Given the description of an element on the screen output the (x, y) to click on. 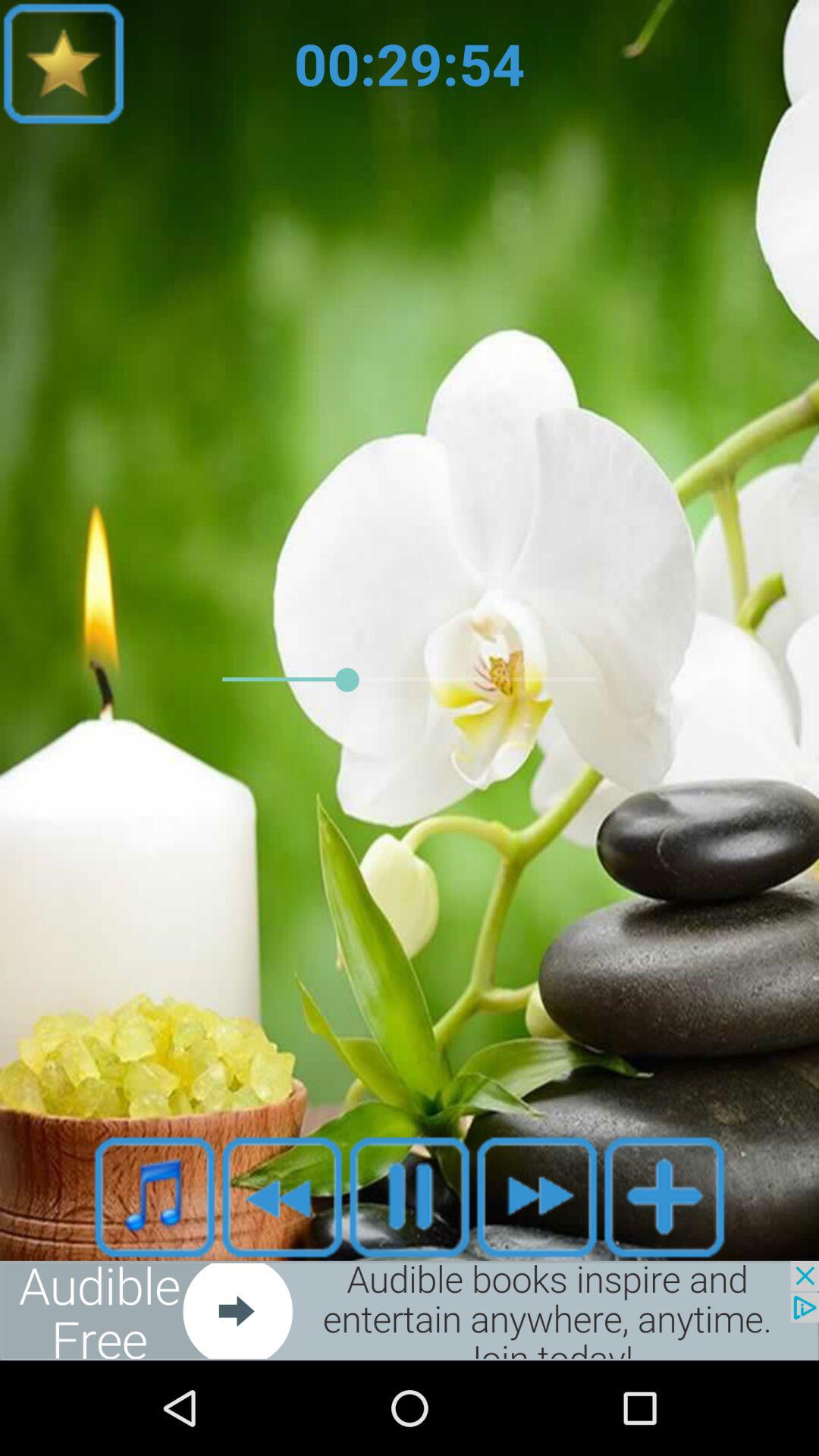
choose music (154, 1196)
